Given the description of an element on the screen output the (x, y) to click on. 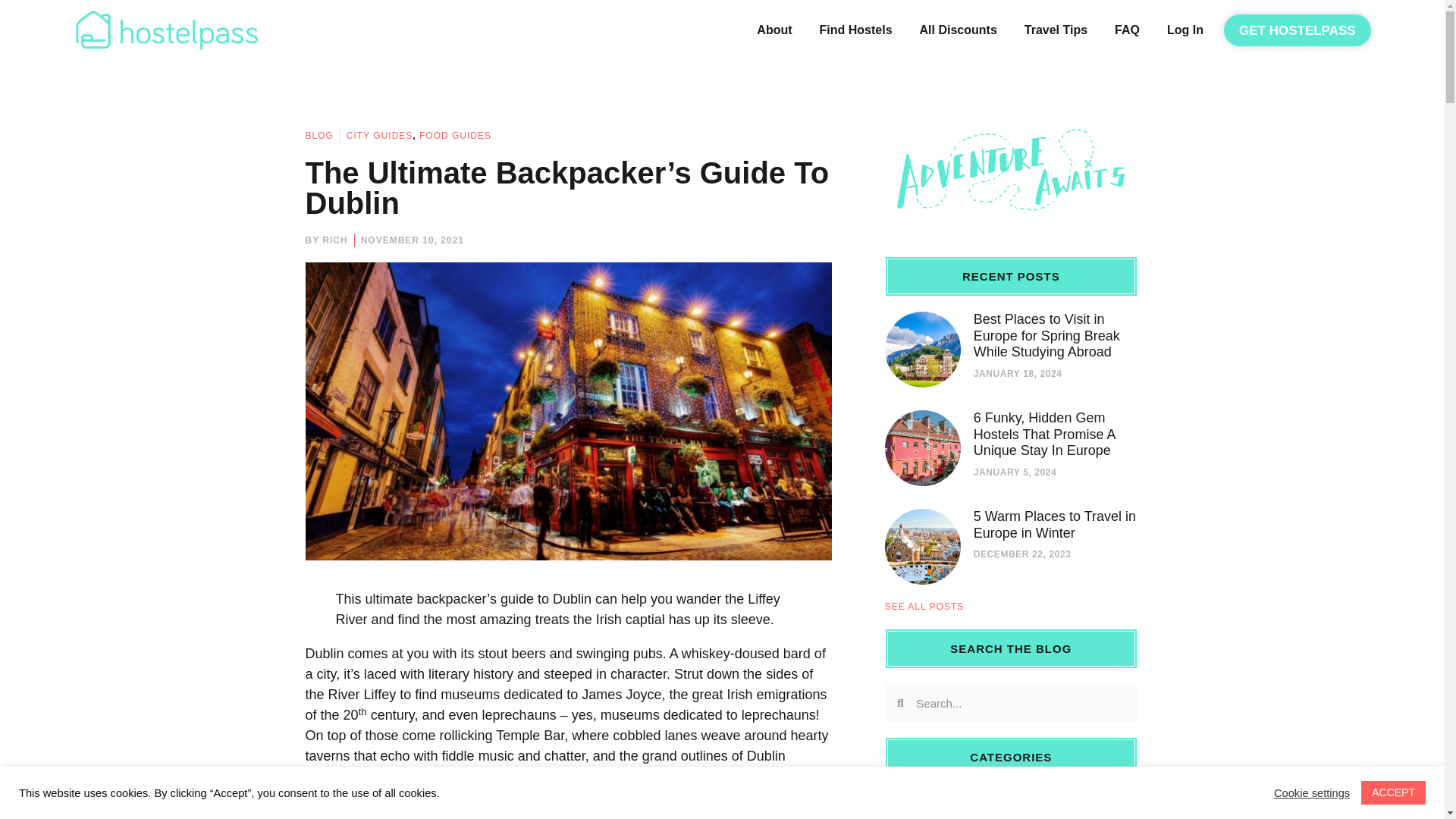
Find Hostels (855, 29)
FAQ (1126, 29)
GET HOSTELPASS (1297, 29)
About (773, 29)
Log In (1184, 29)
Travel Tips (1055, 29)
All Discounts (957, 29)
